Given the description of an element on the screen output the (x, y) to click on. 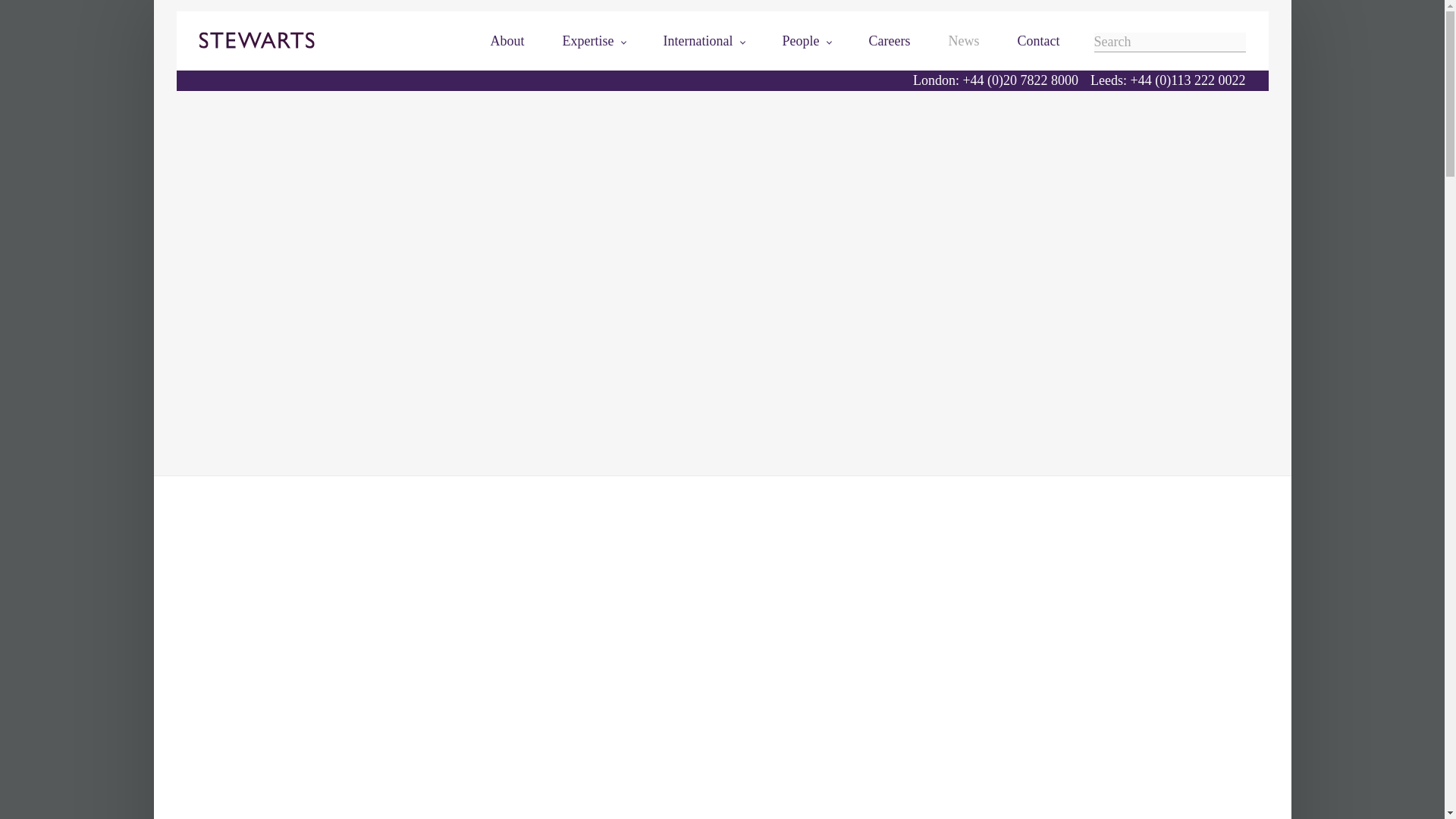
International (703, 41)
News (964, 41)
Careers (890, 41)
Expertise (594, 41)
About (507, 41)
People (806, 41)
